Given the description of an element on the screen output the (x, y) to click on. 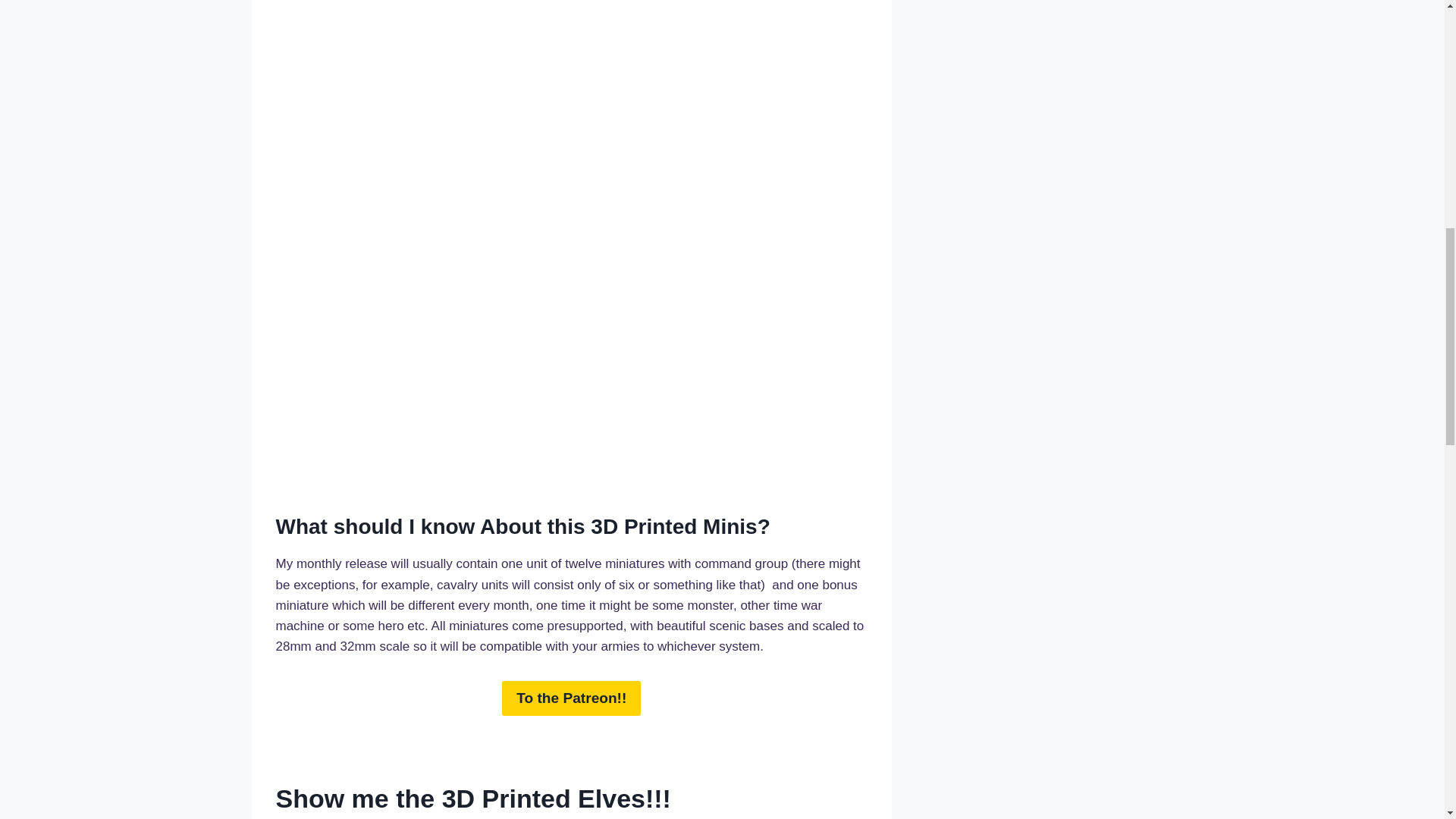
To the Patreon!! (571, 697)
